Given the description of an element on the screen output the (x, y) to click on. 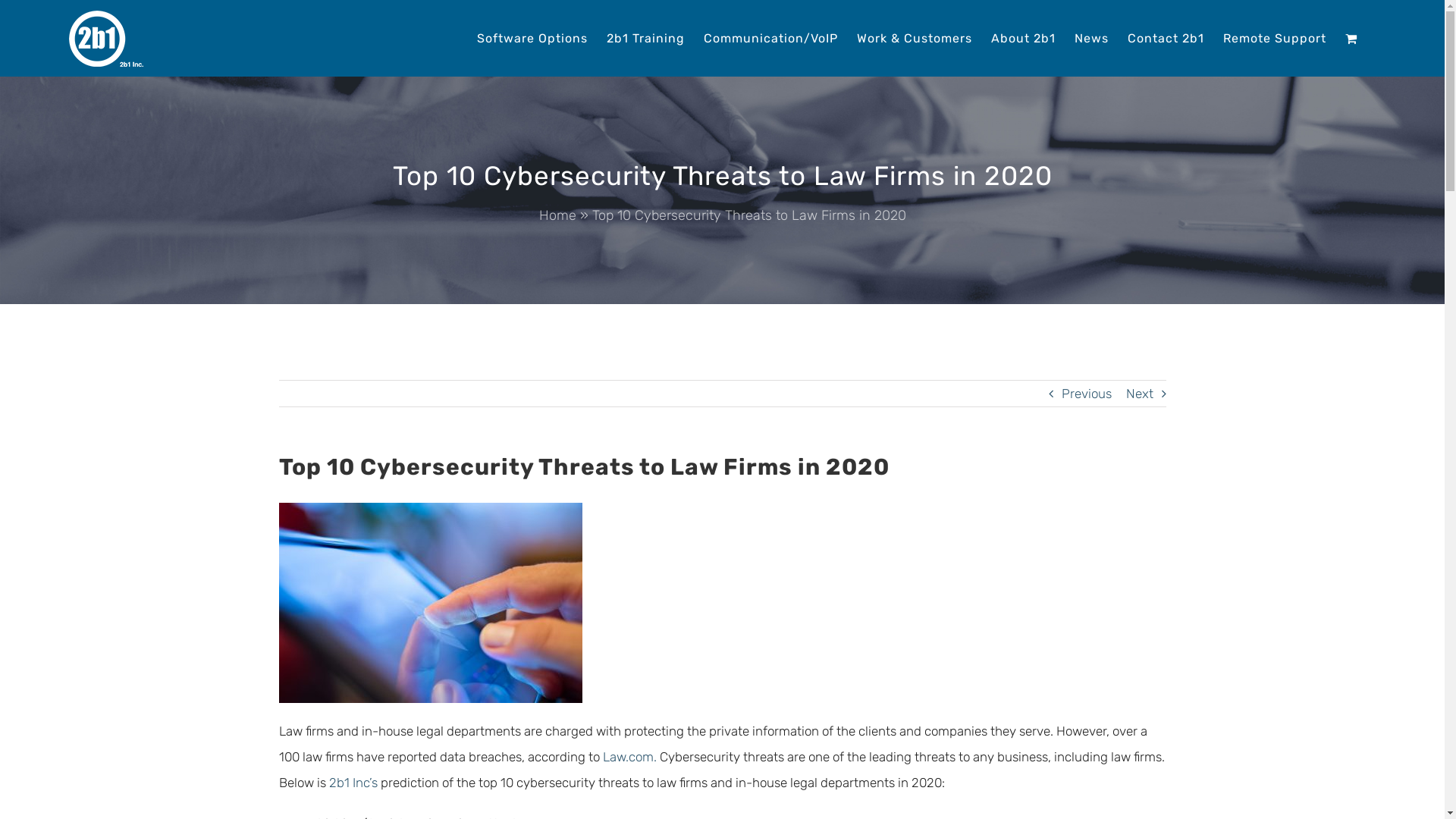
Communication/VoIP Element type: text (770, 37)
Remote Support Element type: text (1274, 37)
Contact 2b1 Element type: text (1165, 37)
Software Options Element type: text (531, 37)
About 2b1 Element type: text (1023, 37)
2b1 Training Element type: text (645, 37)
Next Element type: text (1138, 393)
Law.com. Element type: text (628, 756)
News Element type: text (1091, 37)
Home Element type: text (556, 215)
Previous Element type: text (1086, 393)
Work & Customers Element type: text (914, 37)
